Given the description of an element on the screen output the (x, y) to click on. 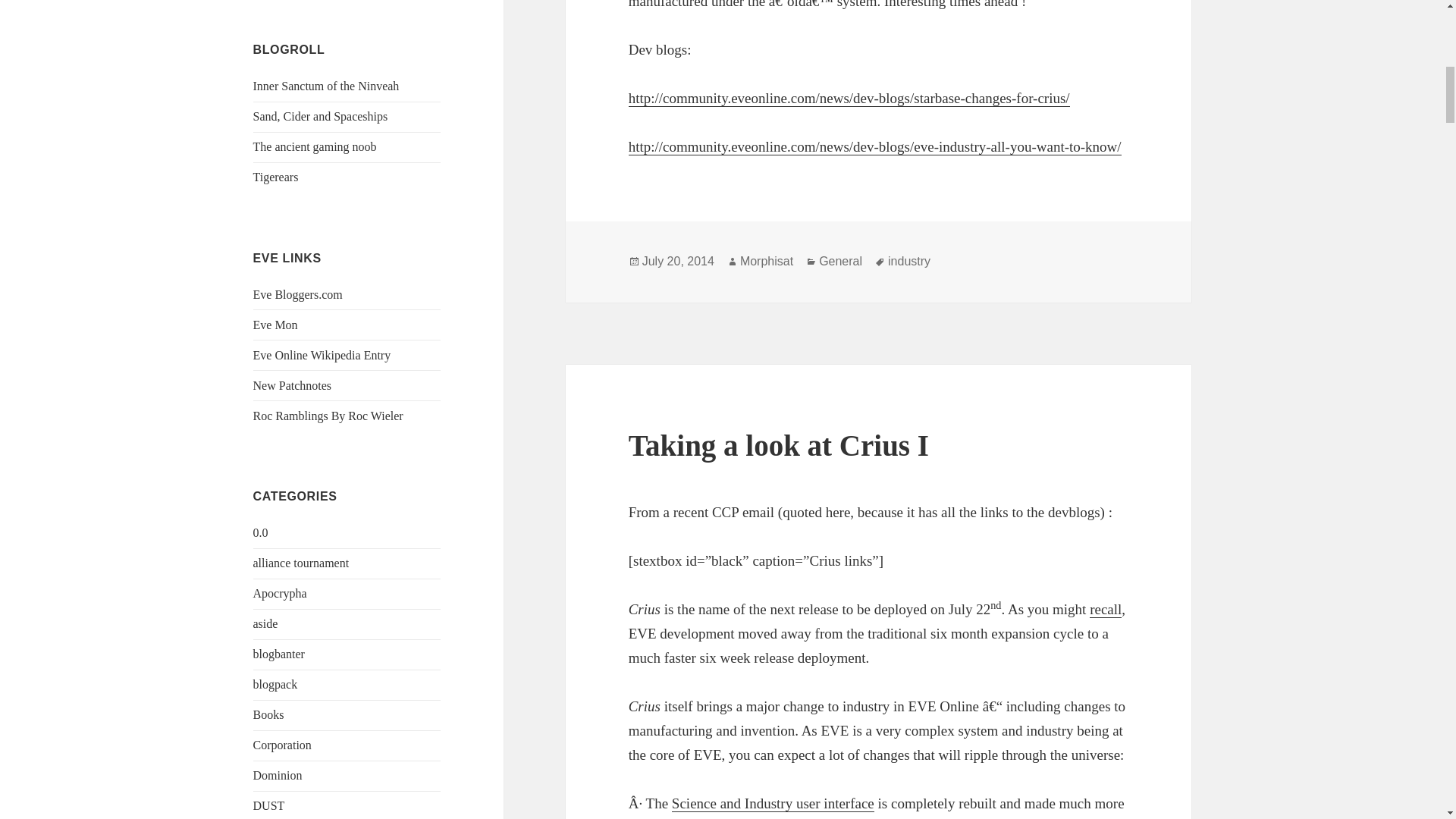
Eve Mon (275, 324)
The ancient gaming noob (315, 146)
Great eve blog, focusing on wormholes (275, 176)
Apocrypha (280, 593)
0.0 (260, 532)
Corporation (282, 744)
The Eve Online Wikipedia Entry (322, 354)
One place stop for all your Eve-News (297, 294)
DUST (269, 805)
Tigerears (275, 176)
Eve Online Wikipedia Entry (322, 354)
General mmorpg blog, but also a lot of articles on Eve (315, 146)
alliance tournament (301, 562)
New Patchnotes (292, 385)
Roc Ramblings By Roc Wieler (328, 415)
